Given the description of an element on the screen output the (x, y) to click on. 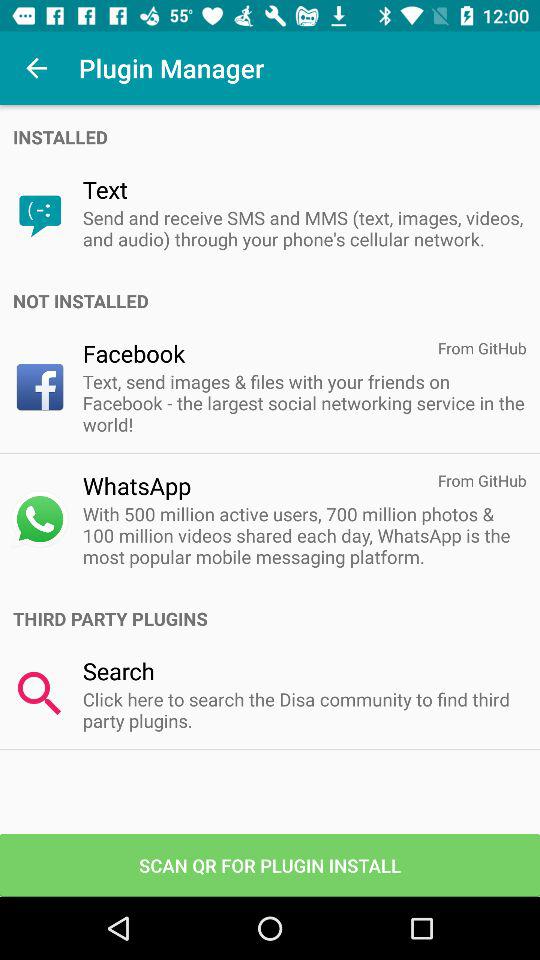
turn on item to the left of the plugin manager icon (36, 68)
